Given the description of an element on the screen output the (x, y) to click on. 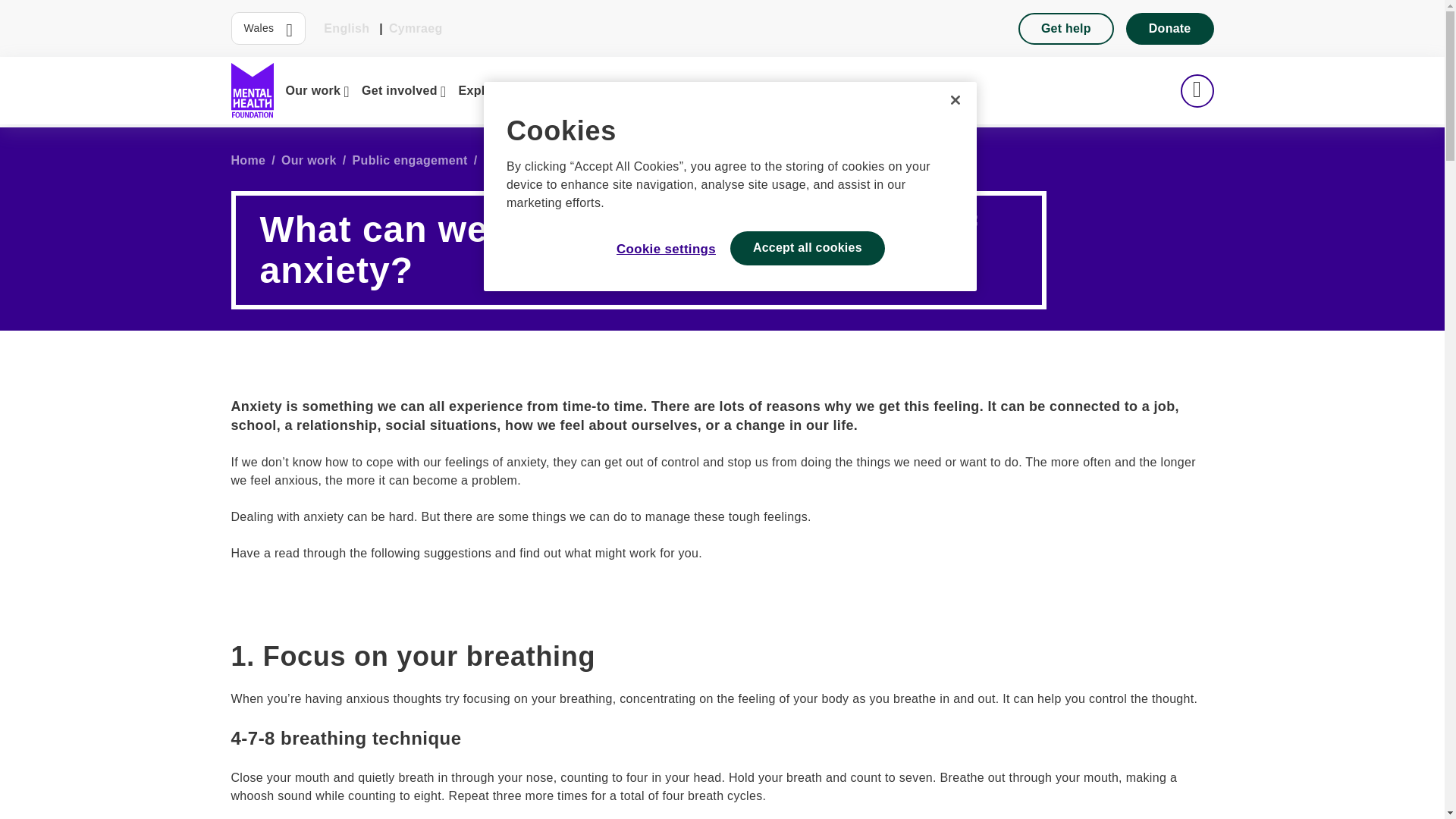
Get involved (403, 90)
Get help (1065, 28)
Donate (1169, 28)
Our work (317, 90)
Wales (267, 28)
About us (641, 90)
Explore mental health (527, 90)
